Given the description of an element on the screen output the (x, y) to click on. 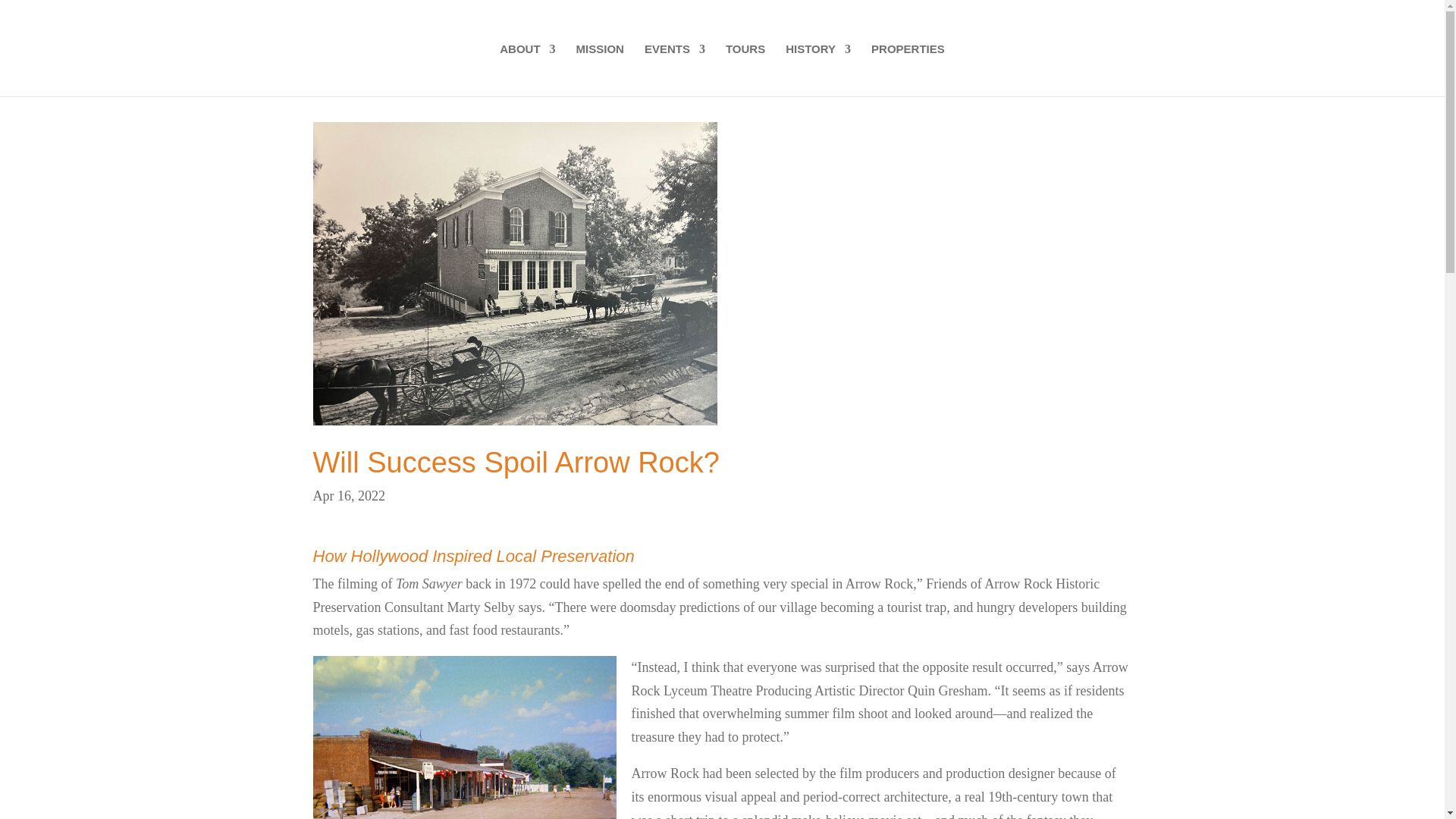
PROPERTIES (907, 70)
MISSION (600, 70)
ABOUT (526, 70)
HISTORY (818, 70)
EVENTS (674, 70)
